Given the description of an element on the screen output the (x, y) to click on. 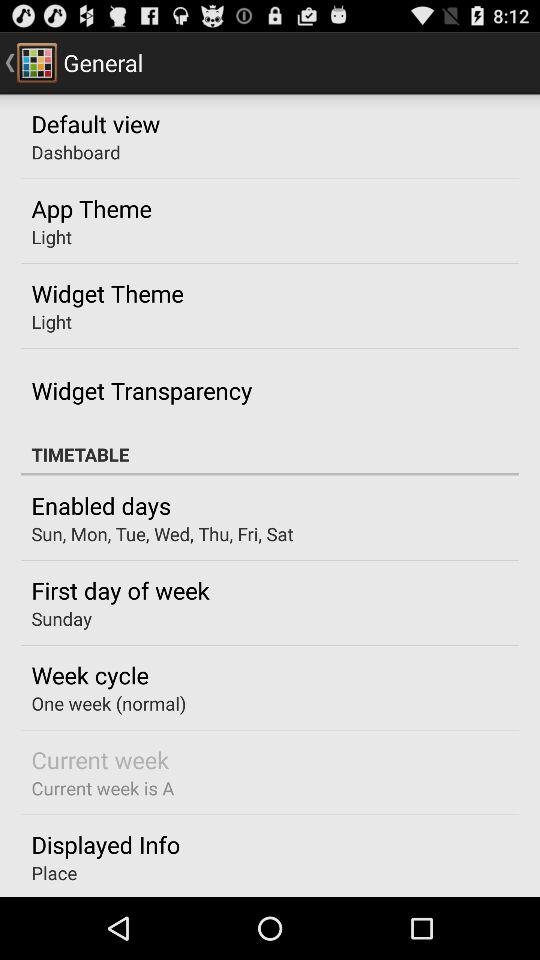
turn off the dashboard (75, 151)
